Given the description of an element on the screen output the (x, y) to click on. 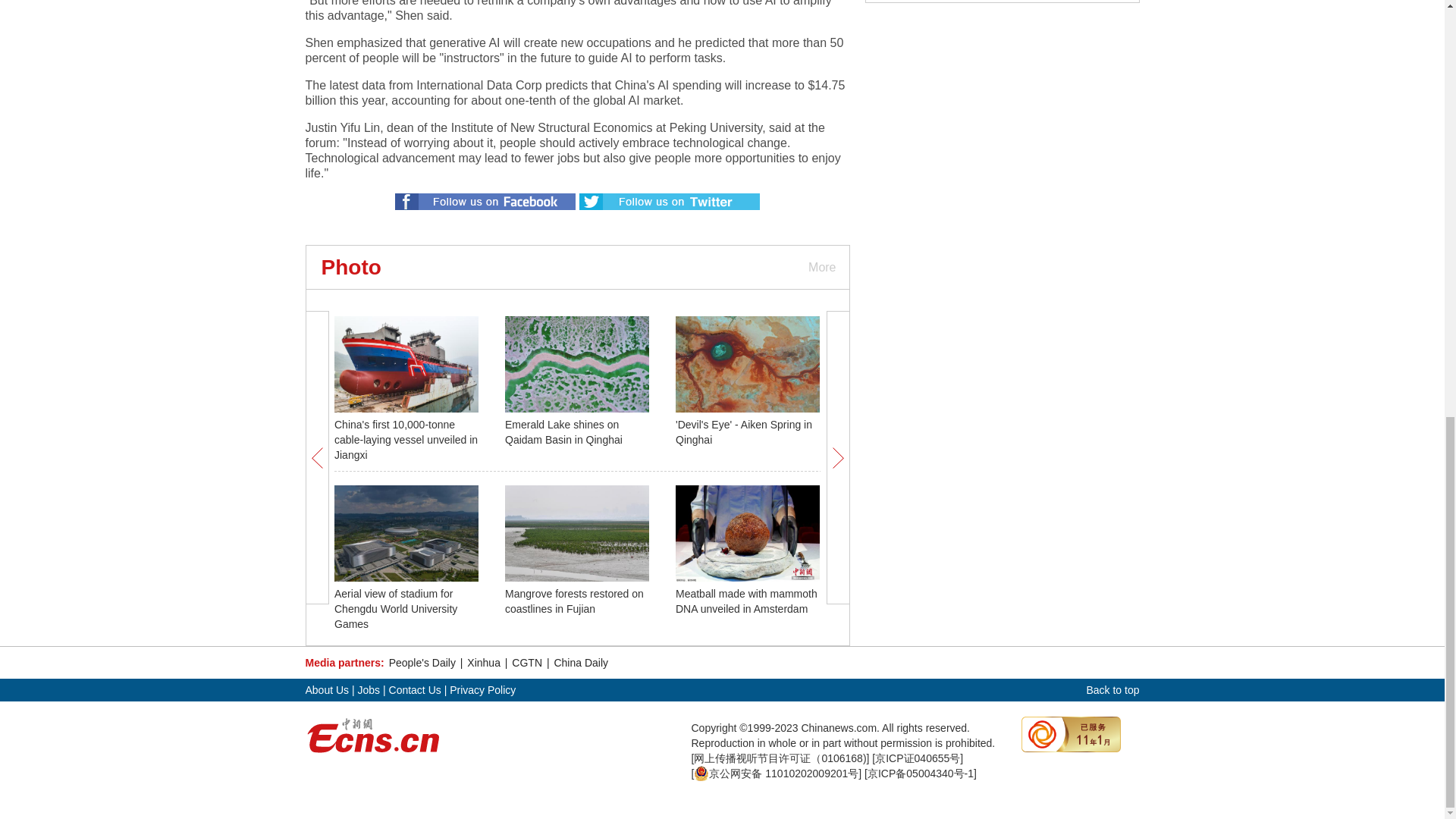
Mangrove forests restored on coastlines in Fujian (574, 601)
Emerald Lake shines on Qaidam Basin in Qinghai (564, 431)
Aerial view of stadium for Chengdu World University Games (395, 608)
'Devil's Eye' - Aiken Spring in Qinghai (743, 431)
Meatball made with mammoth DNA unveiled in Amsterdam (745, 601)
